Given the description of an element on the screen output the (x, y) to click on. 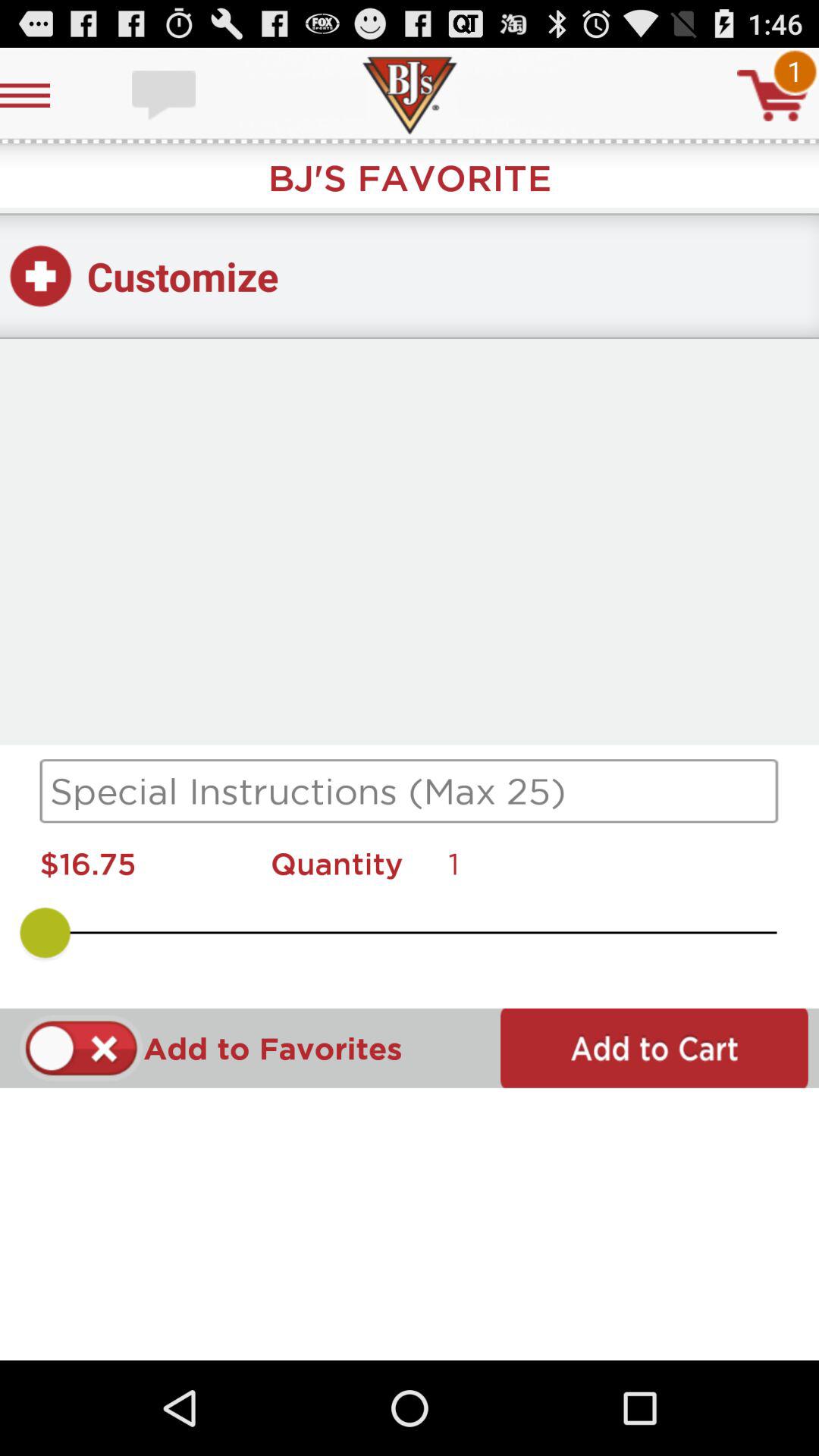
enter the special instructions (409, 790)
